Given the description of an element on the screen output the (x, y) to click on. 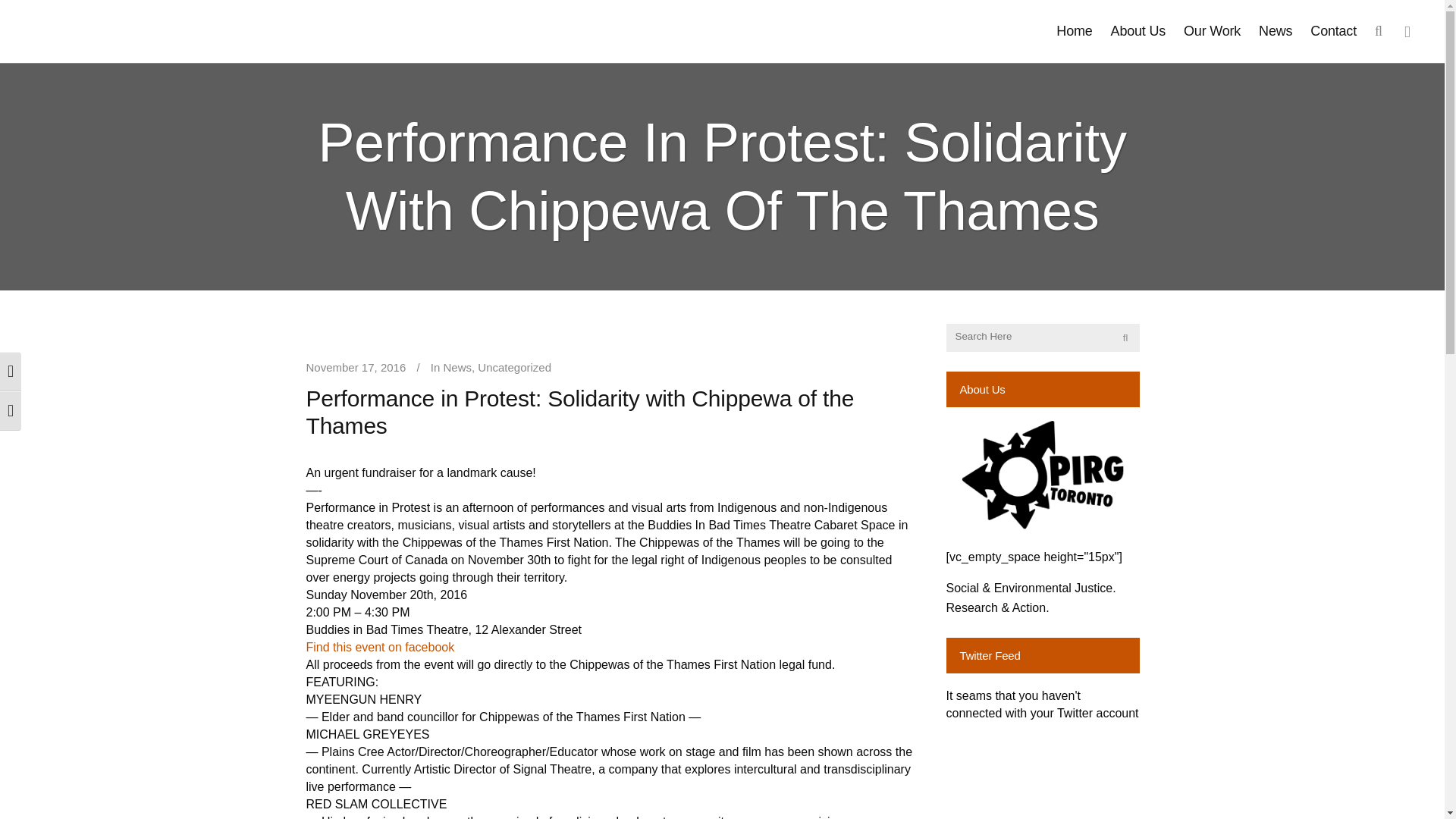
About Us (1138, 31)
Contact (1333, 31)
Our Work (1211, 31)
